Given the description of an element on the screen output the (x, y) to click on. 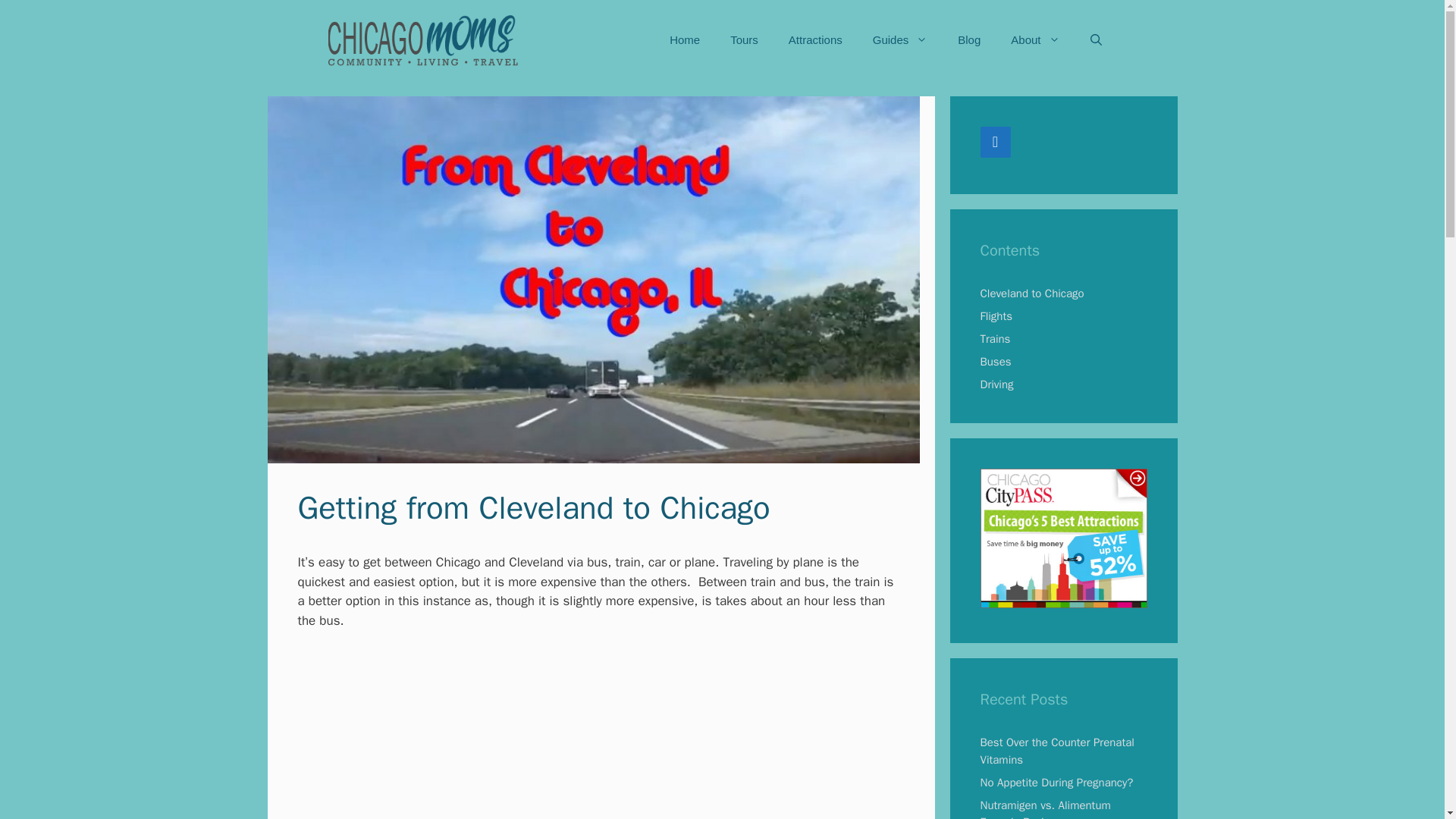
Blog (968, 40)
Tours (743, 40)
Home (683, 40)
Trains (994, 338)
Best Over the Counter Prenatal Vitamins (1056, 750)
Cleveland to Chicago (1031, 293)
Driving (996, 384)
Guides (900, 40)
Attractions (815, 40)
Cleveland to Chicago Baby! - USA Road Trip Ep. 16 (600, 734)
